Given the description of an element on the screen output the (x, y) to click on. 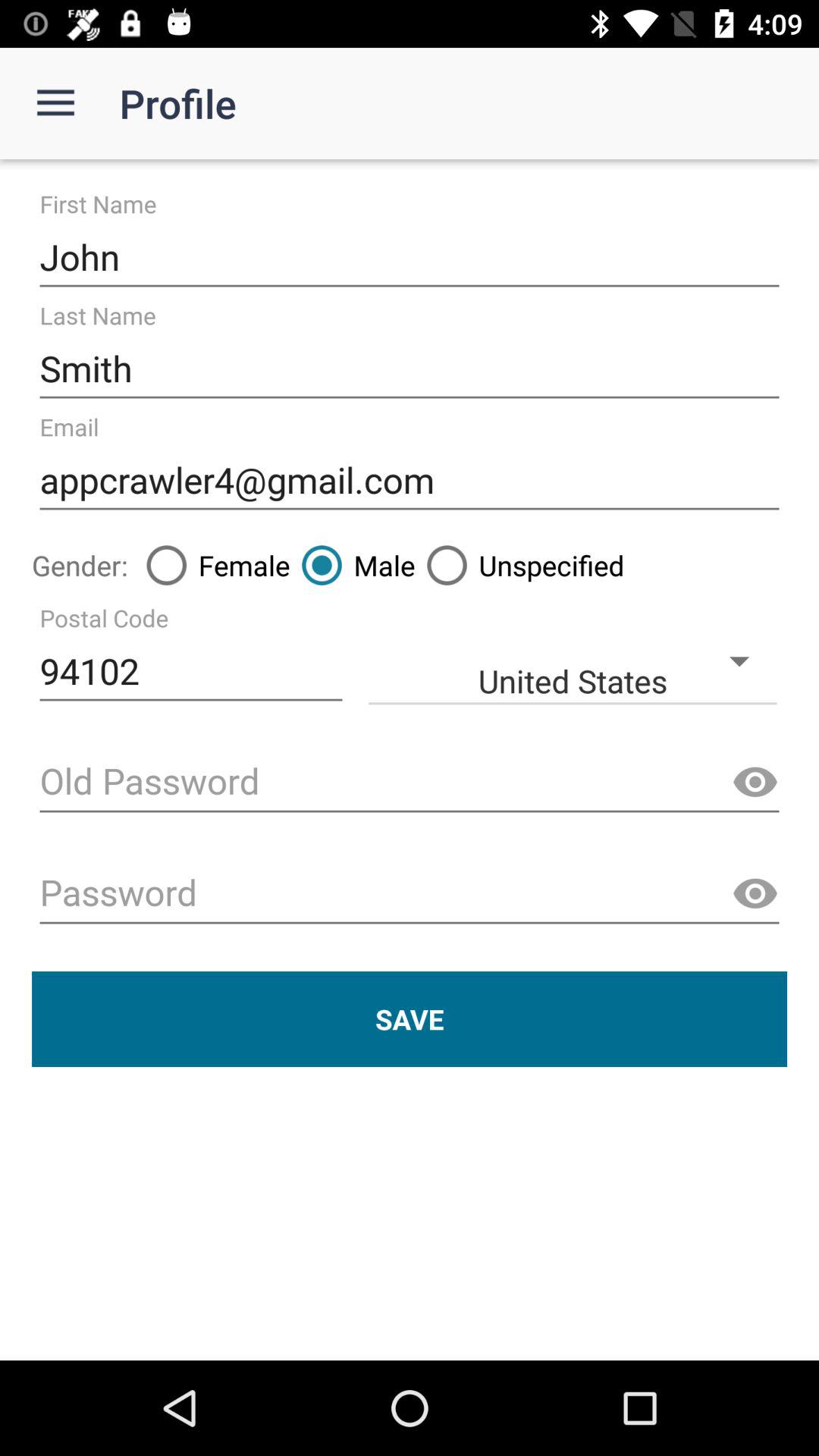
open the item above the united states icon (352, 565)
